Given the description of an element on the screen output the (x, y) to click on. 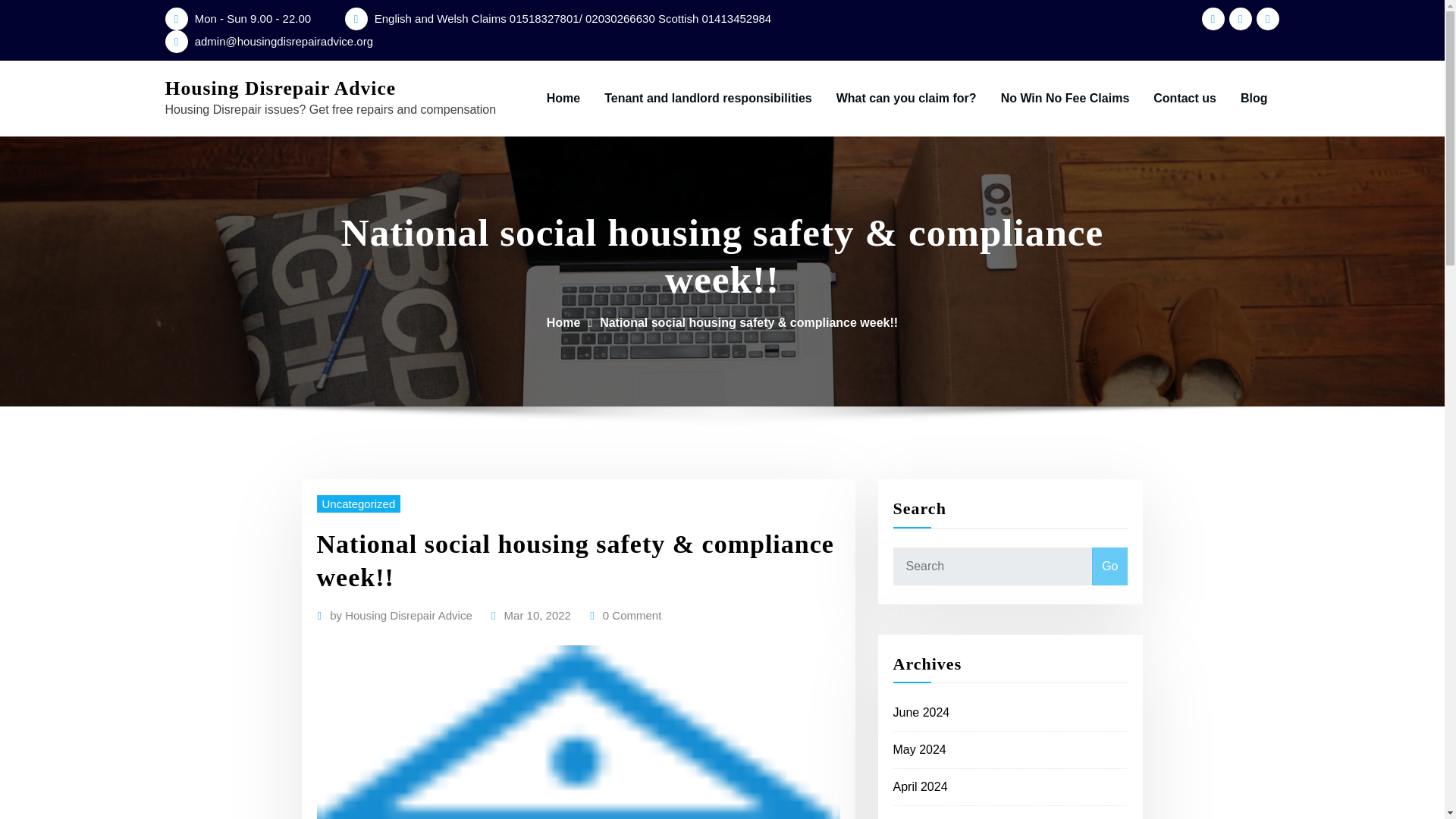
Contact us (1184, 98)
Mar 10, 2022 (536, 615)
Mon - Sun 9.00 - 22.00 (253, 18)
What can you claim for? (906, 98)
Uncategorized (359, 503)
by Housing Disrepair Advice (400, 615)
Tenant and landlord responsibilities (708, 98)
Housing Disrepair Advice (280, 87)
No Win No Fee Claims (1064, 98)
Home (563, 322)
0 Comment (632, 615)
